Given the description of an element on the screen output the (x, y) to click on. 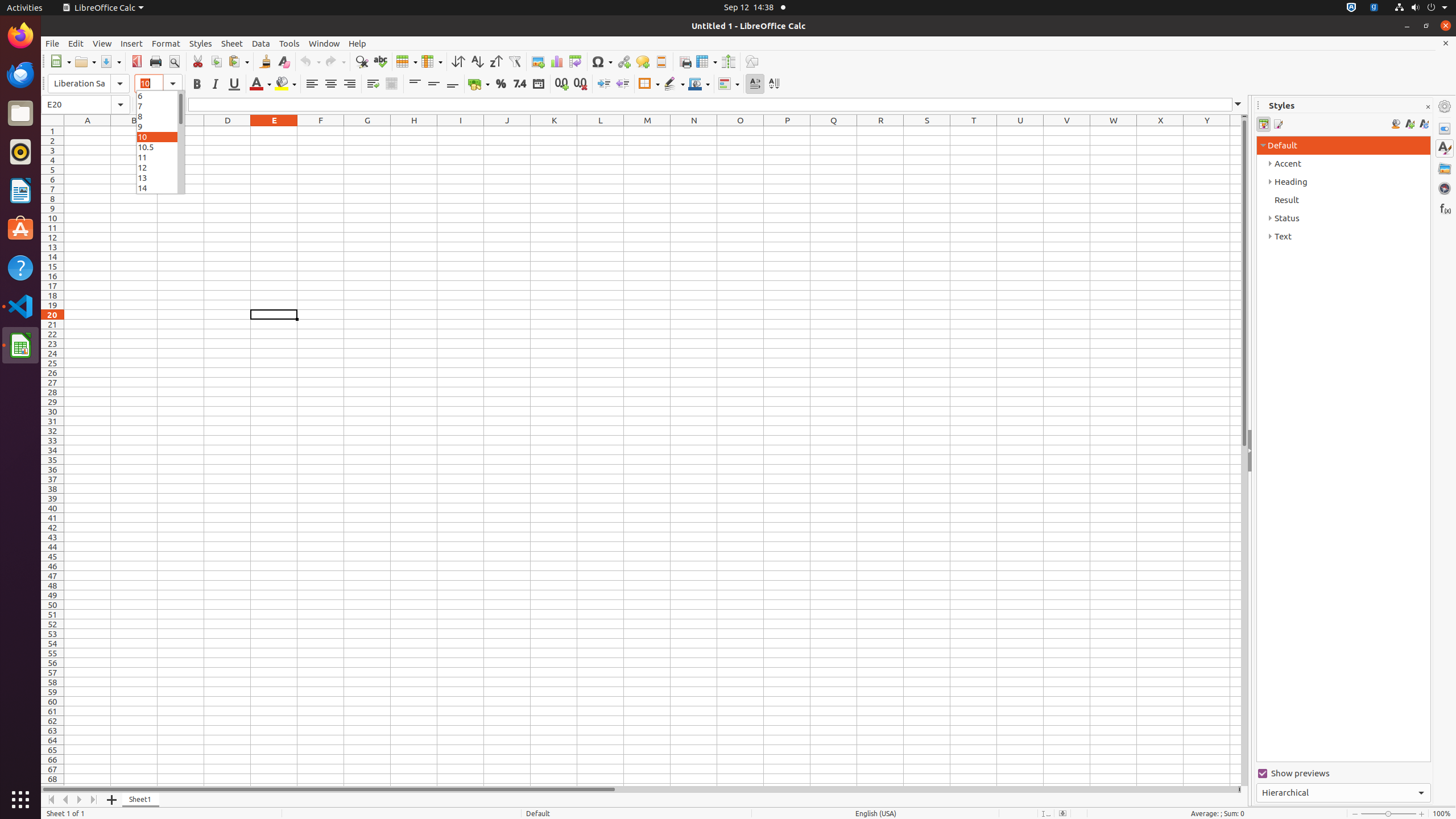
New Element type: push-button (59, 61)
Styles Element type: radio-button (1444, 148)
Border Style Element type: push-button (673, 83)
Expand Formula Bar Element type: push-button (1237, 104)
Number Element type: push-button (519, 83)
